Given the description of an element on the screen output the (x, y) to click on. 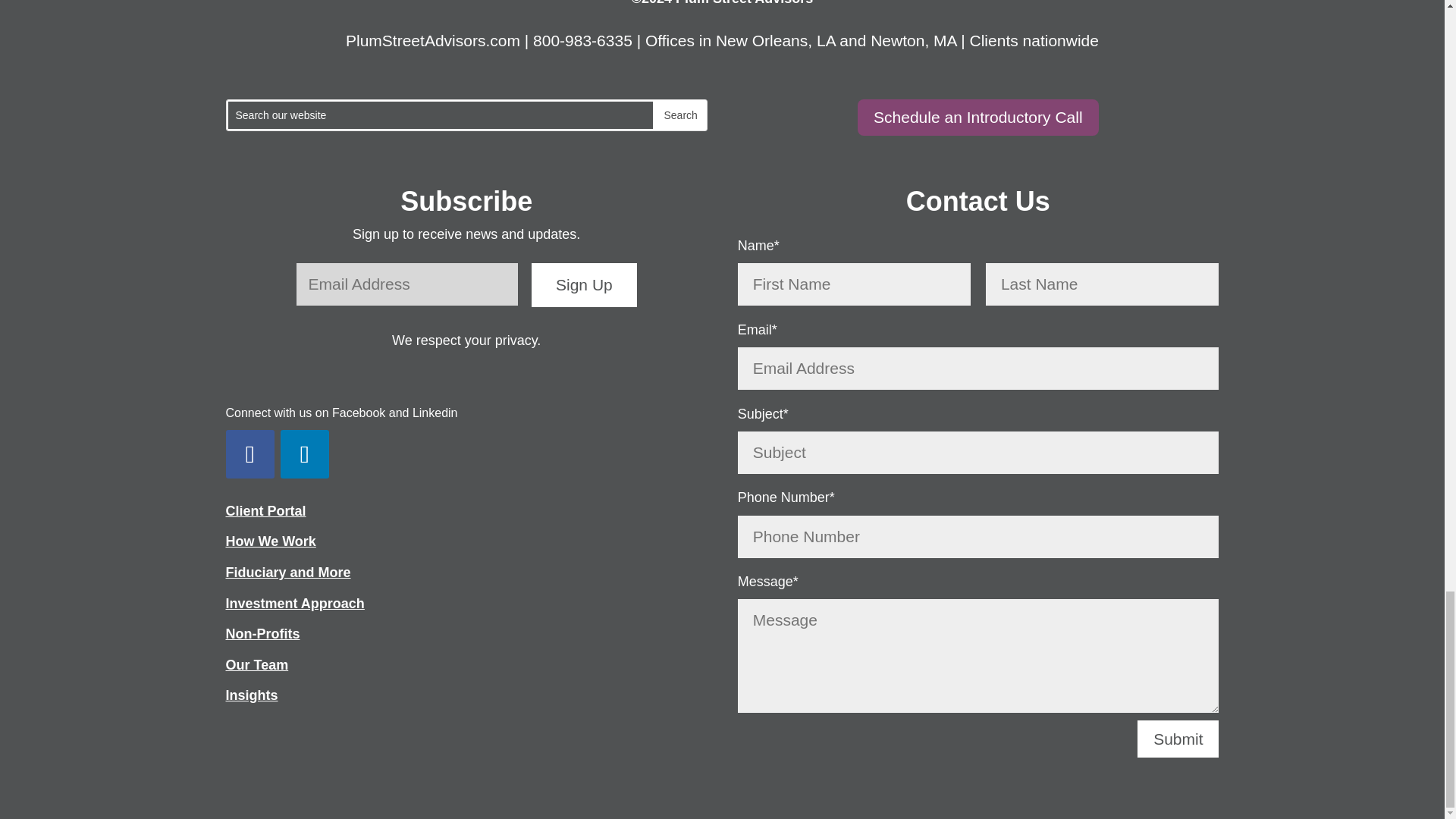
Search (679, 114)
How We Work (270, 540)
How We Work (270, 540)
Follow on LinkedIn (305, 453)
Search (679, 114)
Insights (251, 694)
Investment Approach (295, 603)
Fiduciary and More (287, 572)
Client Portal (265, 510)
Non-Profits (262, 633)
Search (679, 114)
Schedule an Introductory Call (978, 117)
Our Team (256, 664)
Fiduciary and More (287, 572)
Sign Up (584, 284)
